Given the description of an element on the screen output the (x, y) to click on. 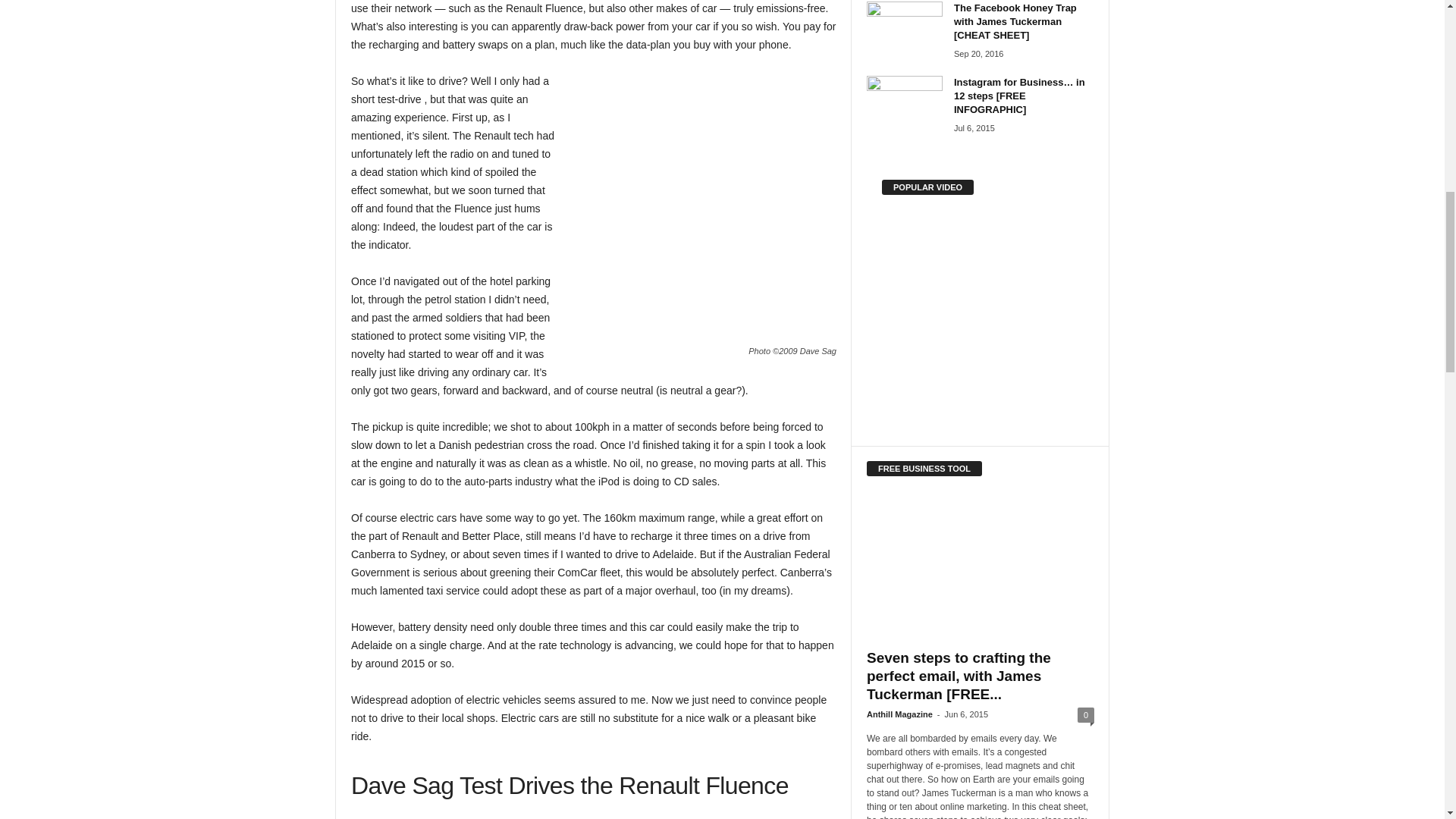
Renault Fluence - rear (702, 209)
